Given the description of an element on the screen output the (x, y) to click on. 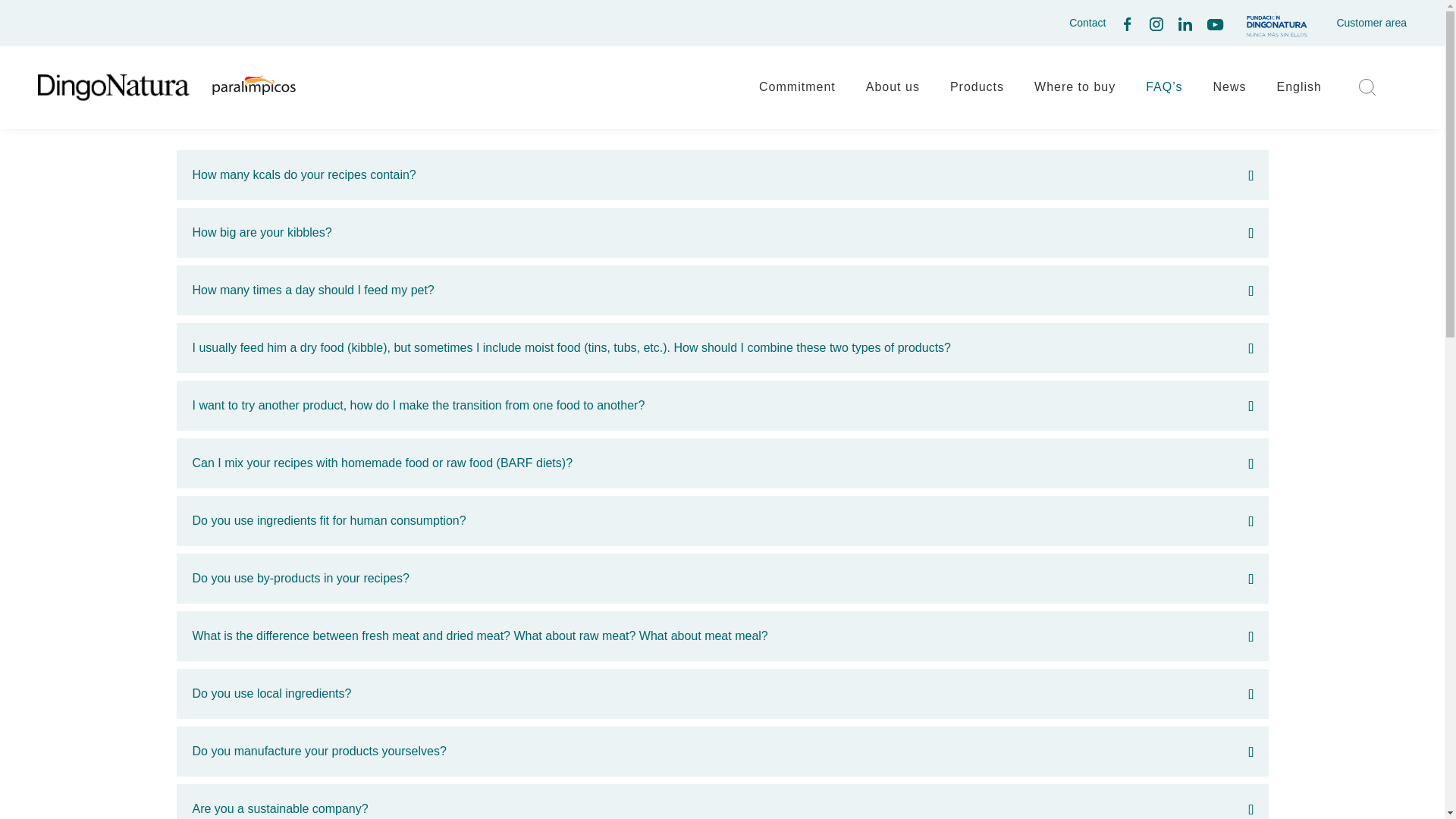
English (1299, 86)
About us (893, 86)
youtube (1215, 25)
Products (977, 86)
instagram (1156, 26)
search (1366, 91)
News (1229, 86)
English (1299, 86)
Where to buy (1074, 86)
fundacion-dingonatura (1276, 24)
